Given the description of an element on the screen output the (x, y) to click on. 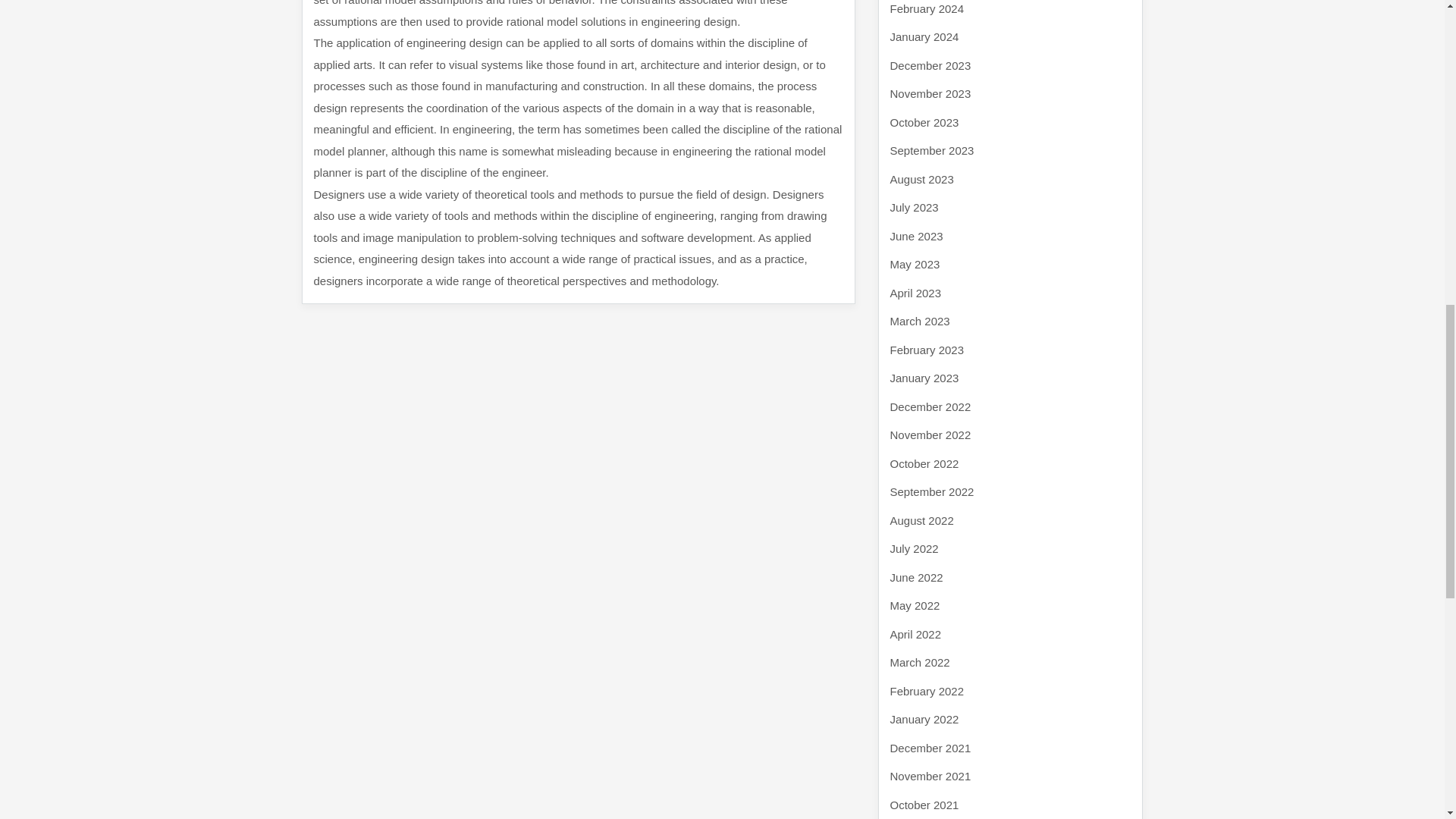
October 2022 (924, 462)
January 2023 (924, 377)
July 2022 (914, 548)
November 2022 (930, 434)
August 2022 (921, 520)
June 2023 (916, 235)
July 2023 (914, 206)
January 2024 (924, 36)
September 2023 (931, 150)
December 2023 (930, 65)
June 2022 (916, 576)
February 2024 (926, 7)
December 2022 (930, 406)
March 2023 (919, 320)
May 2022 (914, 604)
